Given the description of an element on the screen output the (x, y) to click on. 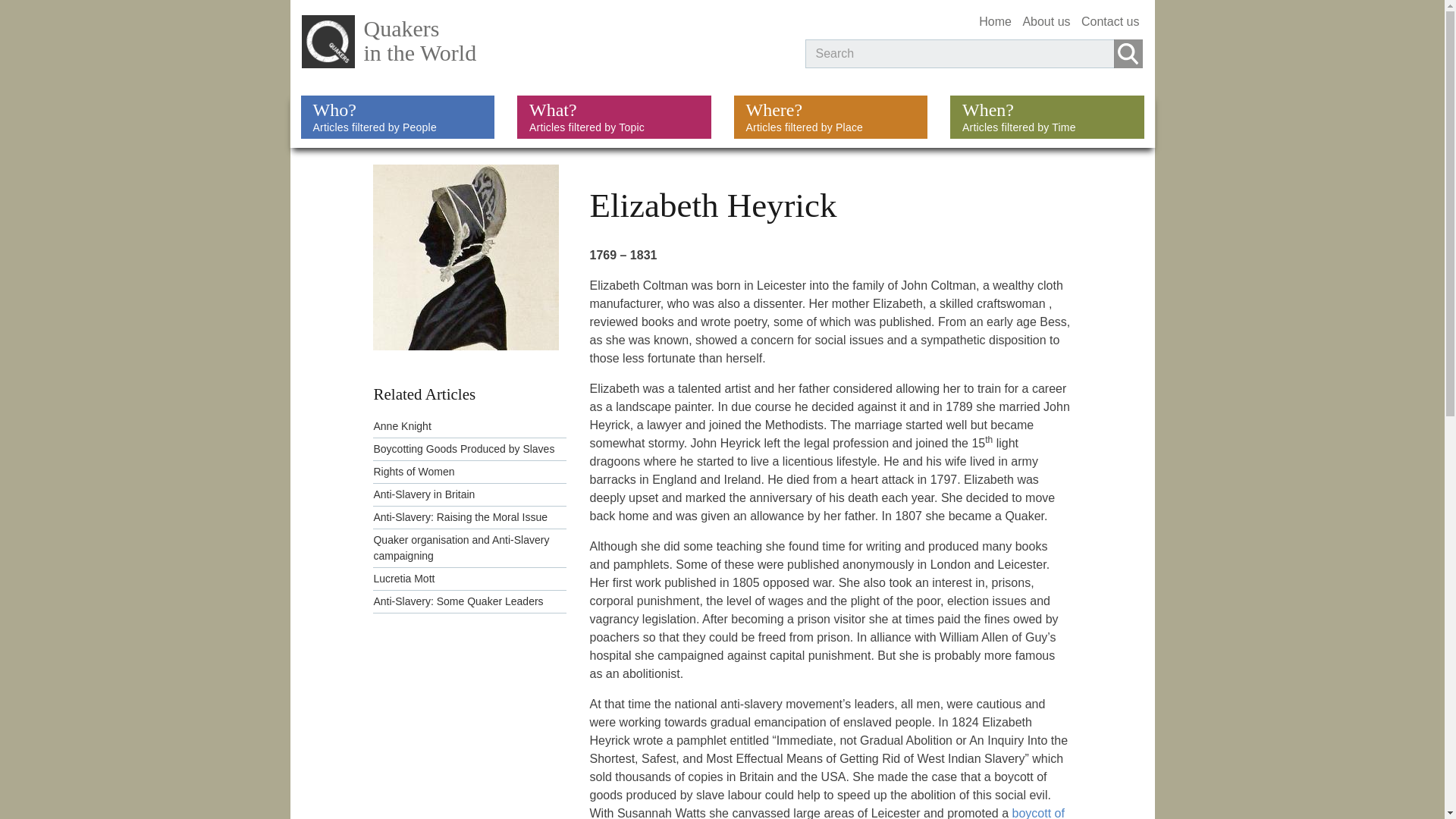
About us (1046, 21)
Home (994, 21)
Contact us (397, 116)
